Given the description of an element on the screen output the (x, y) to click on. 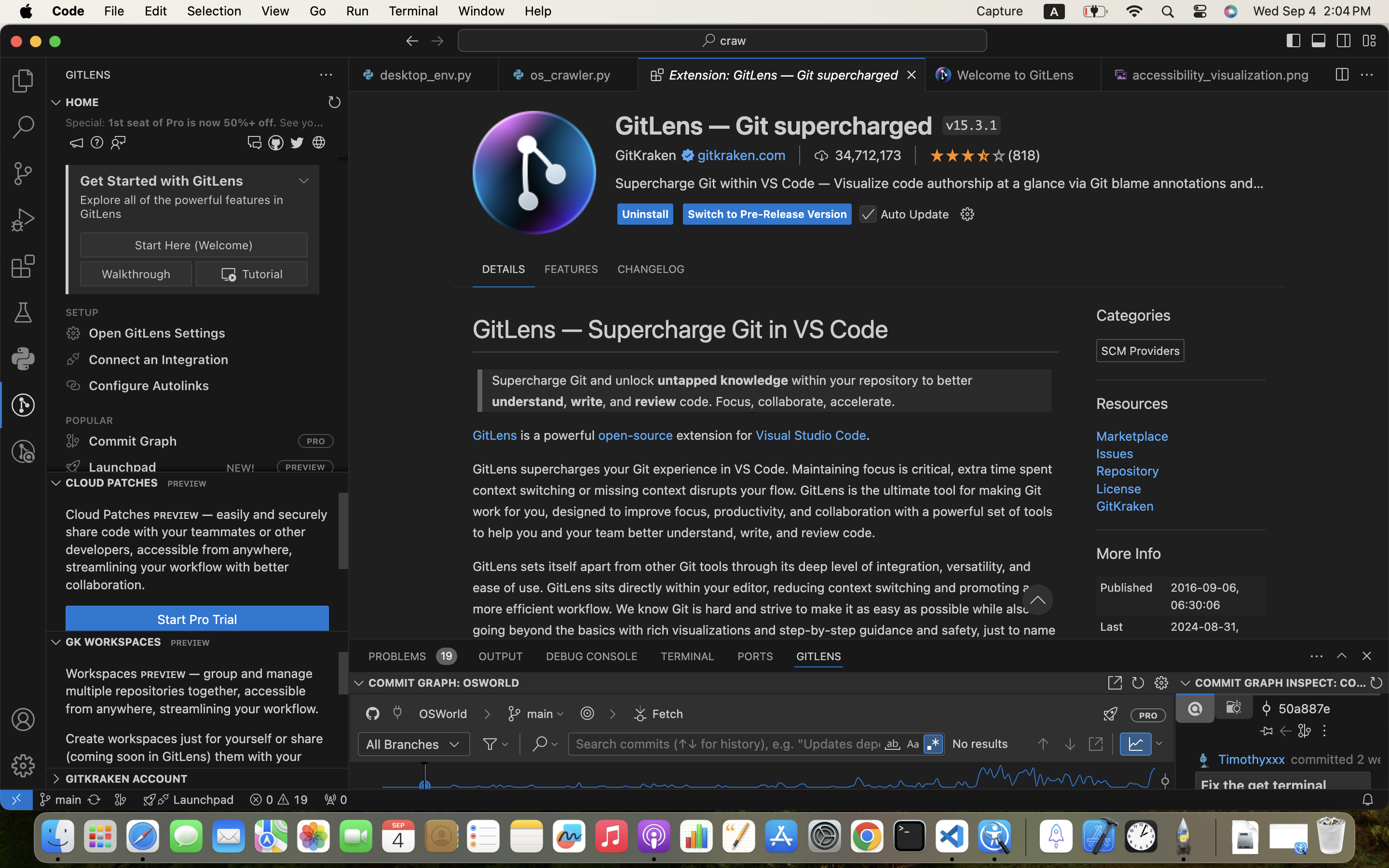
 Element type: AXCheckBox (912, 744)
6 yrs ago Element type: AXStaticText (619, 586)
 Element type: AXStaticText (612, 713)
write Element type: AXStaticText (985, 180)
 Element type: AXStaticText (968, 154)
